Given the description of an element on the screen output the (x, y) to click on. 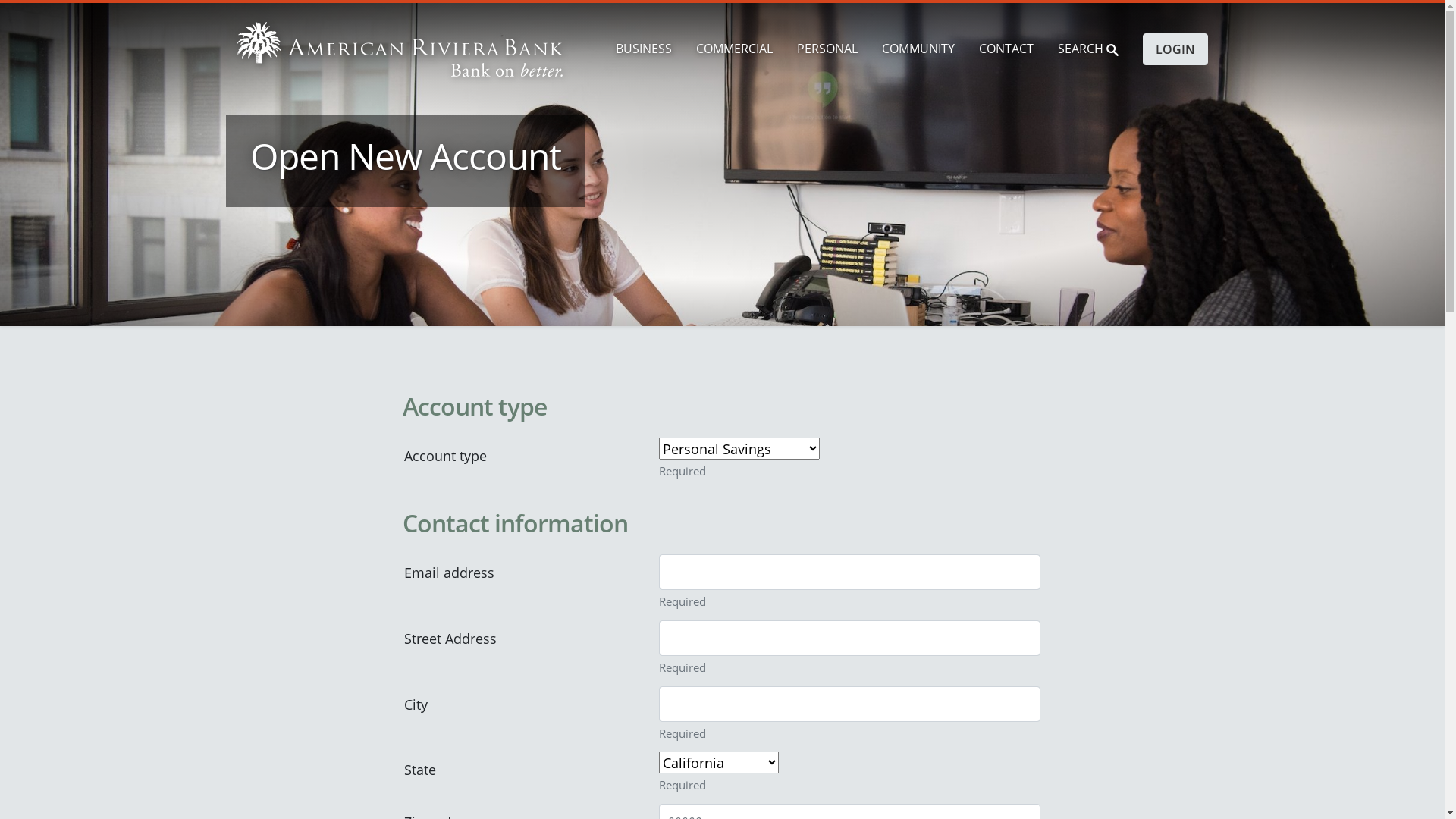
Continue Element type: text (968, 229)
BUSINESS Element type: text (643, 48)
CONTACT Element type: text (1005, 48)
PERSONAL Element type: text (826, 48)
COMMERCIAL Element type: text (734, 48)
COMMUNITY Element type: text (917, 48)
SEARCH Element type: text (1086, 48)
LOGIN Element type: text (1174, 49)
